Given the description of an element on the screen output the (x, y) to click on. 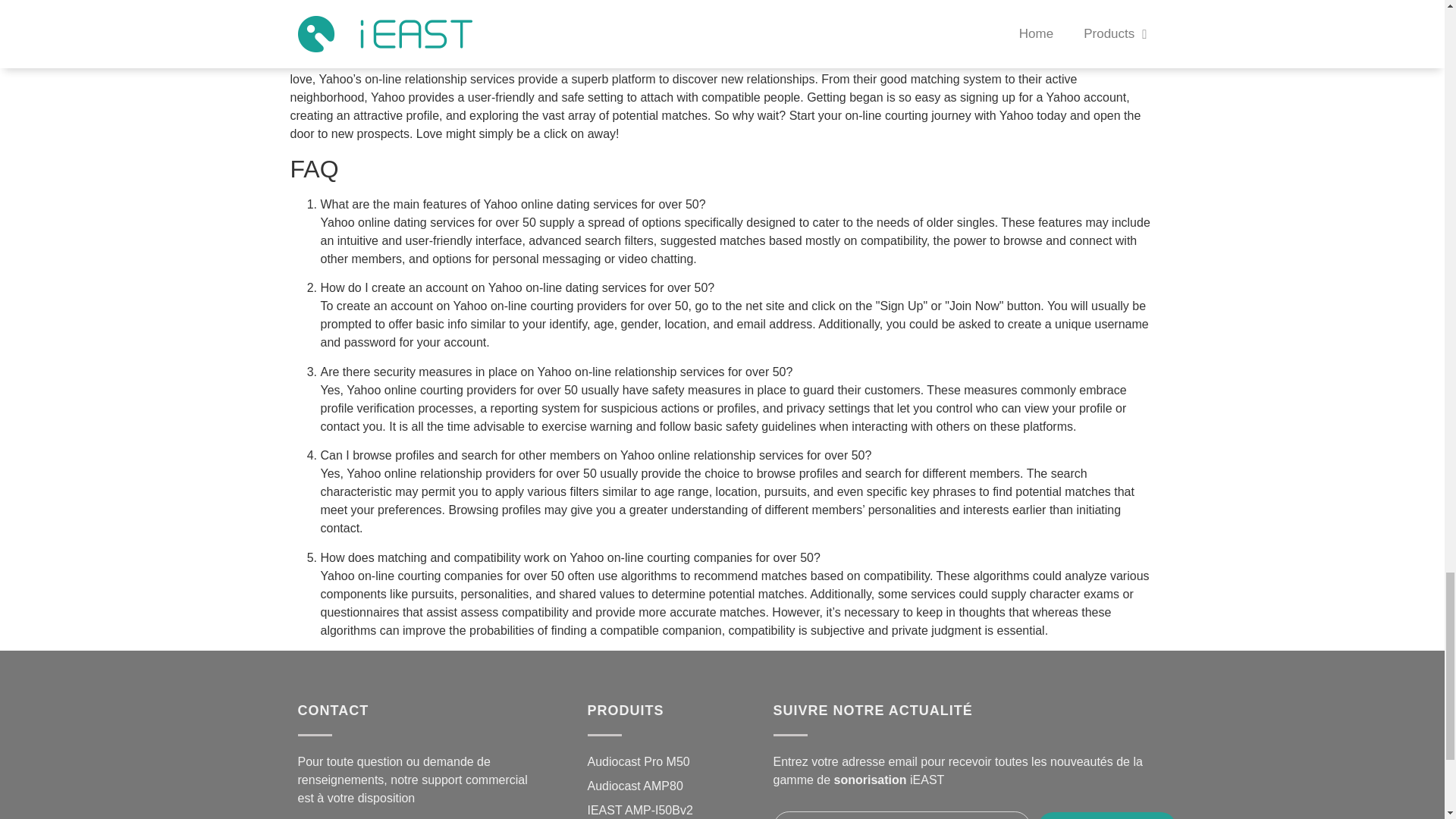
Audiocast AMP80 (634, 786)
Audiocast Pro M50 (637, 761)
IEAST AMP-I50Bv2 (639, 810)
S'ENREGISTRER (1107, 815)
